Given the description of an element on the screen output the (x, y) to click on. 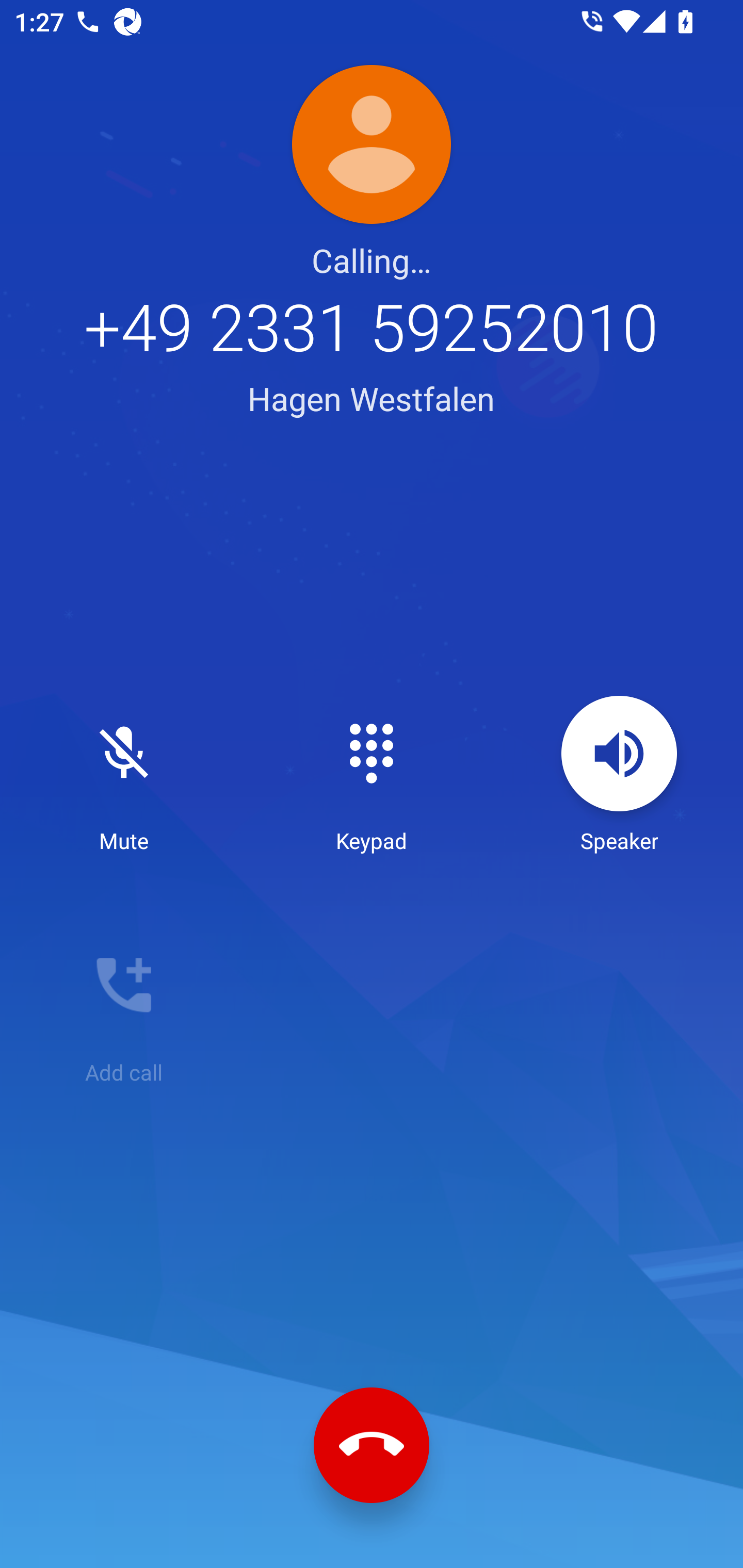
Unmuted Mute (123, 775)
Keypad (371, 775)
Speaker, is Off Speaker (619, 775)
Add call (123, 1007)
End call (371, 1445)
